Given the description of an element on the screen output the (x, y) to click on. 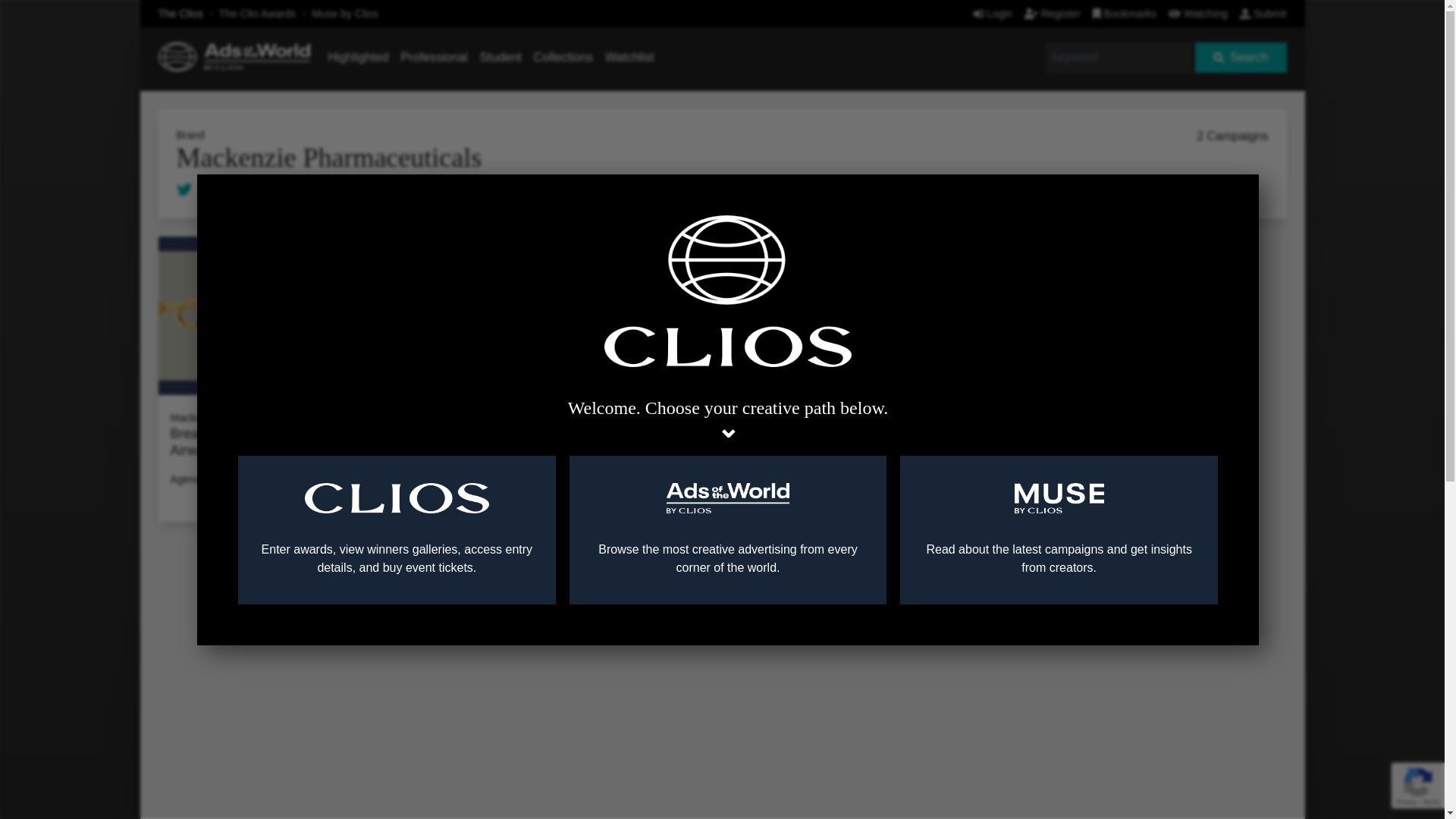
Student (500, 56)
Register (1052, 13)
Bookmarks (1125, 13)
Professional (434, 56)
Login (991, 13)
The Clio Awards (258, 13)
Collections (563, 56)
Login to Bookmark (351, 399)
Login to Bookmark (580, 399)
Submit (1263, 13)
Search (1241, 57)
Muse by Clios (344, 13)
Highlighted (357, 56)
Bookmarks (1125, 13)
